Given the description of an element on the screen output the (x, y) to click on. 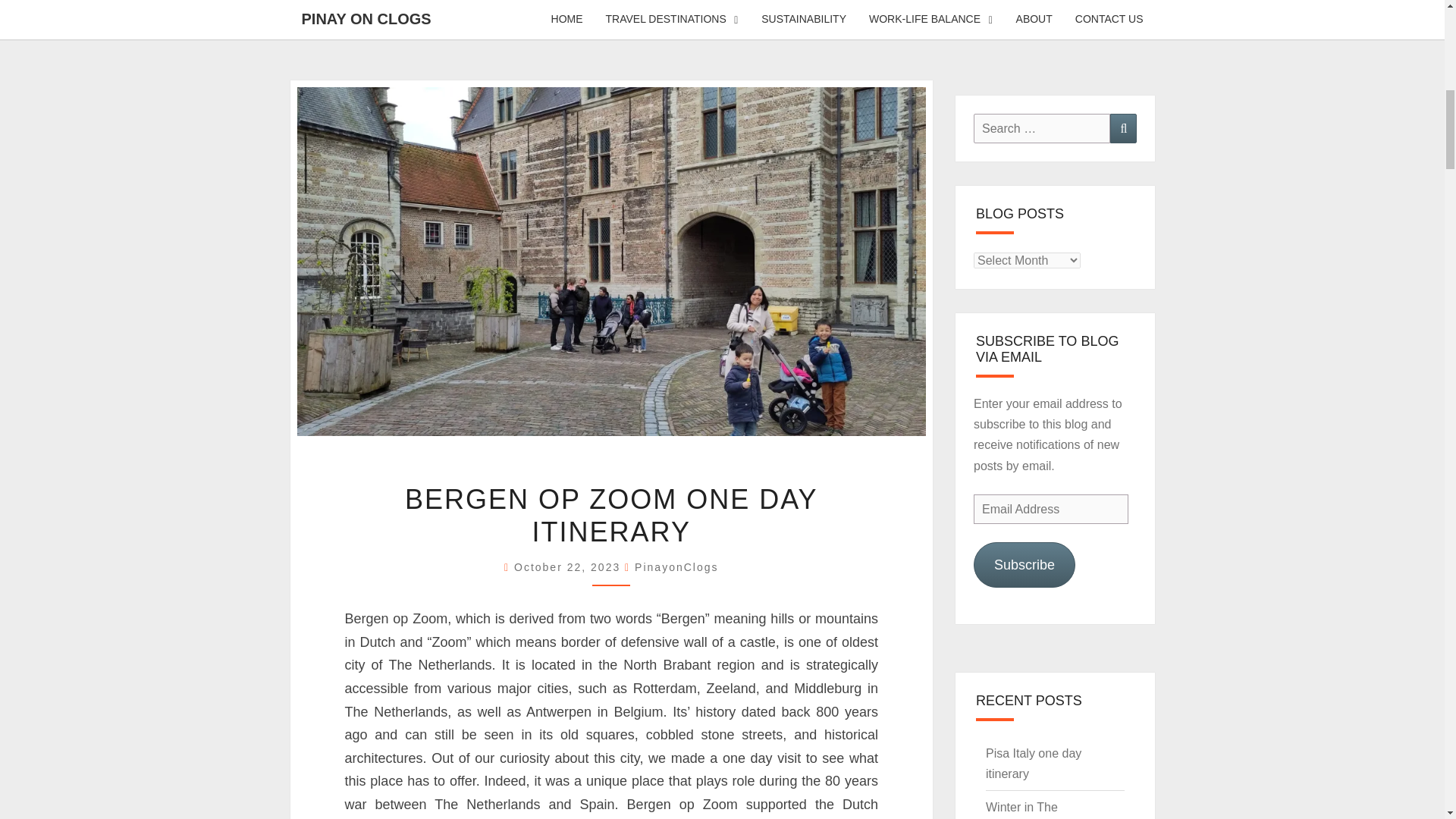
Advertisement (721, 36)
View all posts by PinayonClogs (675, 567)
Search for: (1041, 128)
PinayonClogs (675, 567)
October 22, 2023 (568, 567)
5:54 pm (568, 567)
